Given the description of an element on the screen output the (x, y) to click on. 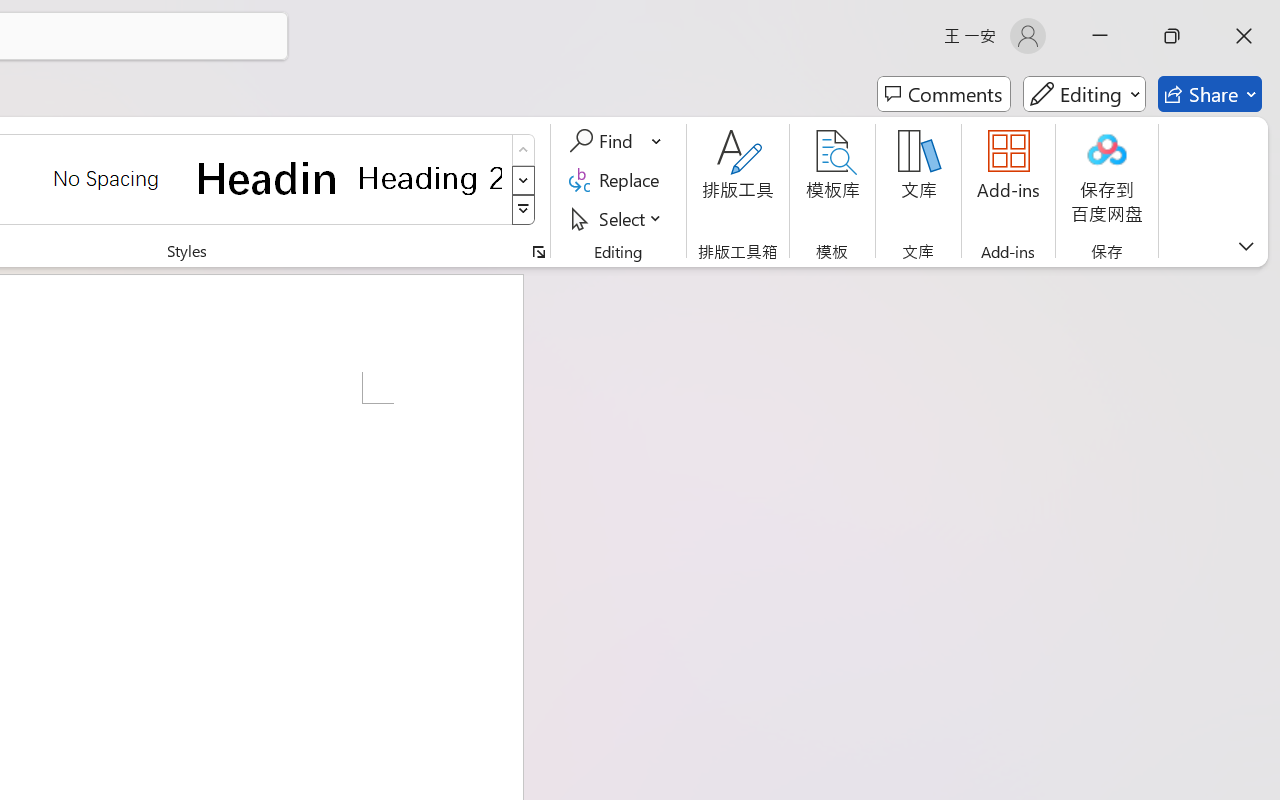
Styles... (538, 252)
